Given the description of an element on the screen output the (x, y) to click on. 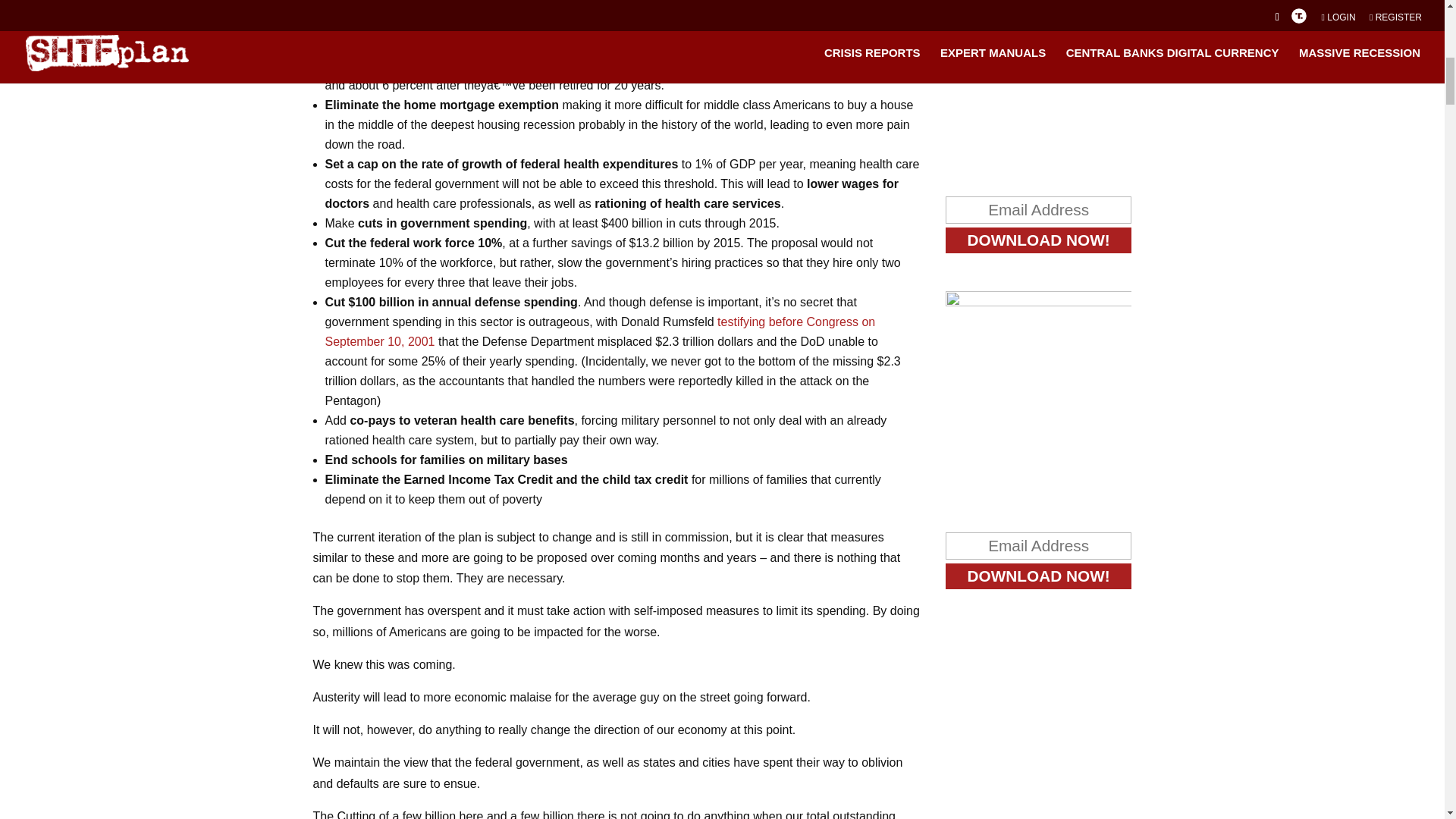
Download Now! (1038, 575)
testifying before Congress on September 10, 2001 (599, 331)
Download Now! (1038, 240)
